Given the description of an element on the screen output the (x, y) to click on. 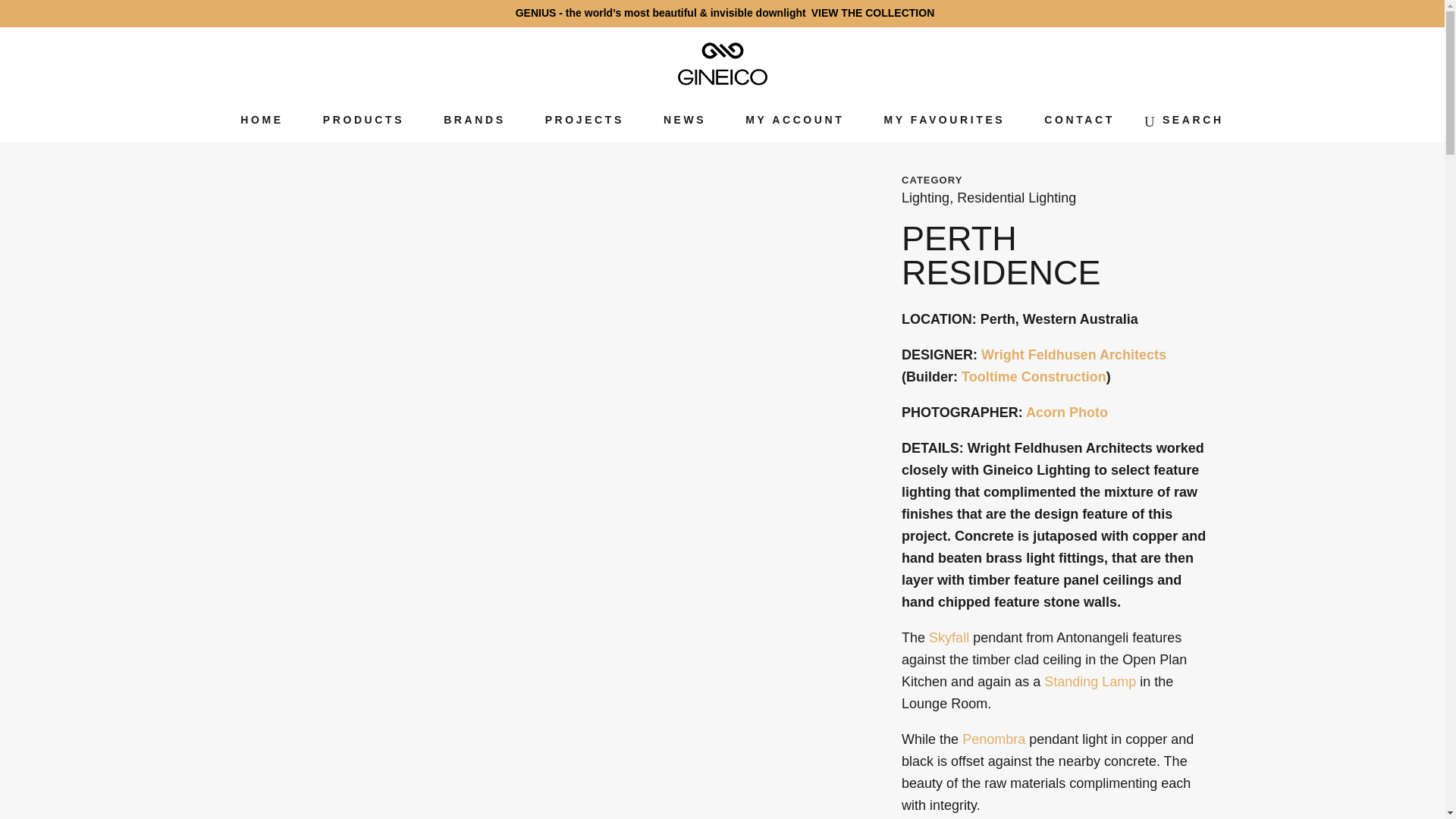
PRODUCTS (362, 119)
VISIT GINEICO MARINE (1239, 12)
HOME (261, 119)
